Given the description of an element on the screen output the (x, y) to click on. 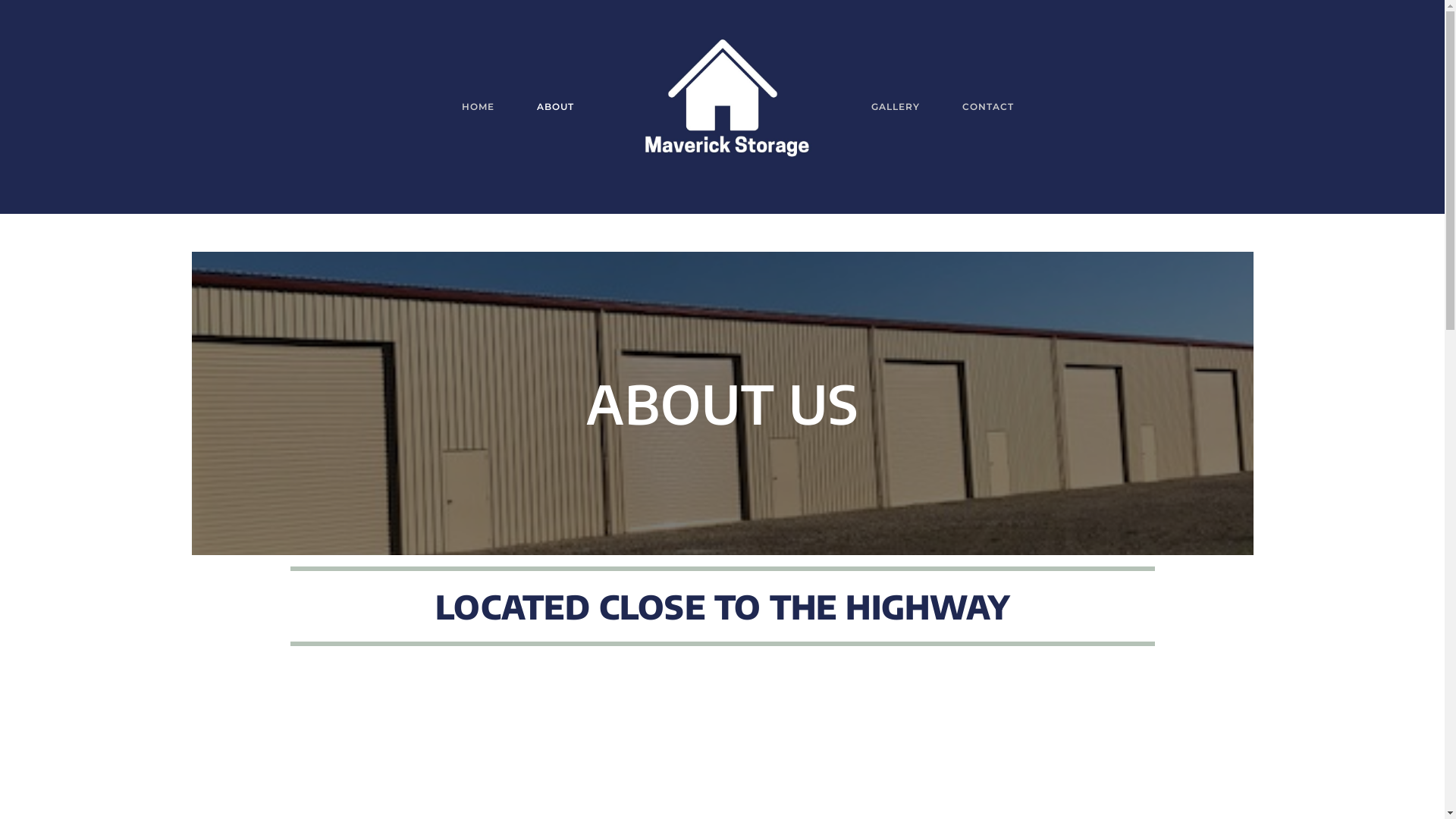
CONTACT Element type: text (987, 106)
HOME Element type: text (476, 106)
GALLERY Element type: text (894, 106)
ABOUT Element type: text (555, 106)
